Given the description of an element on the screen output the (x, y) to click on. 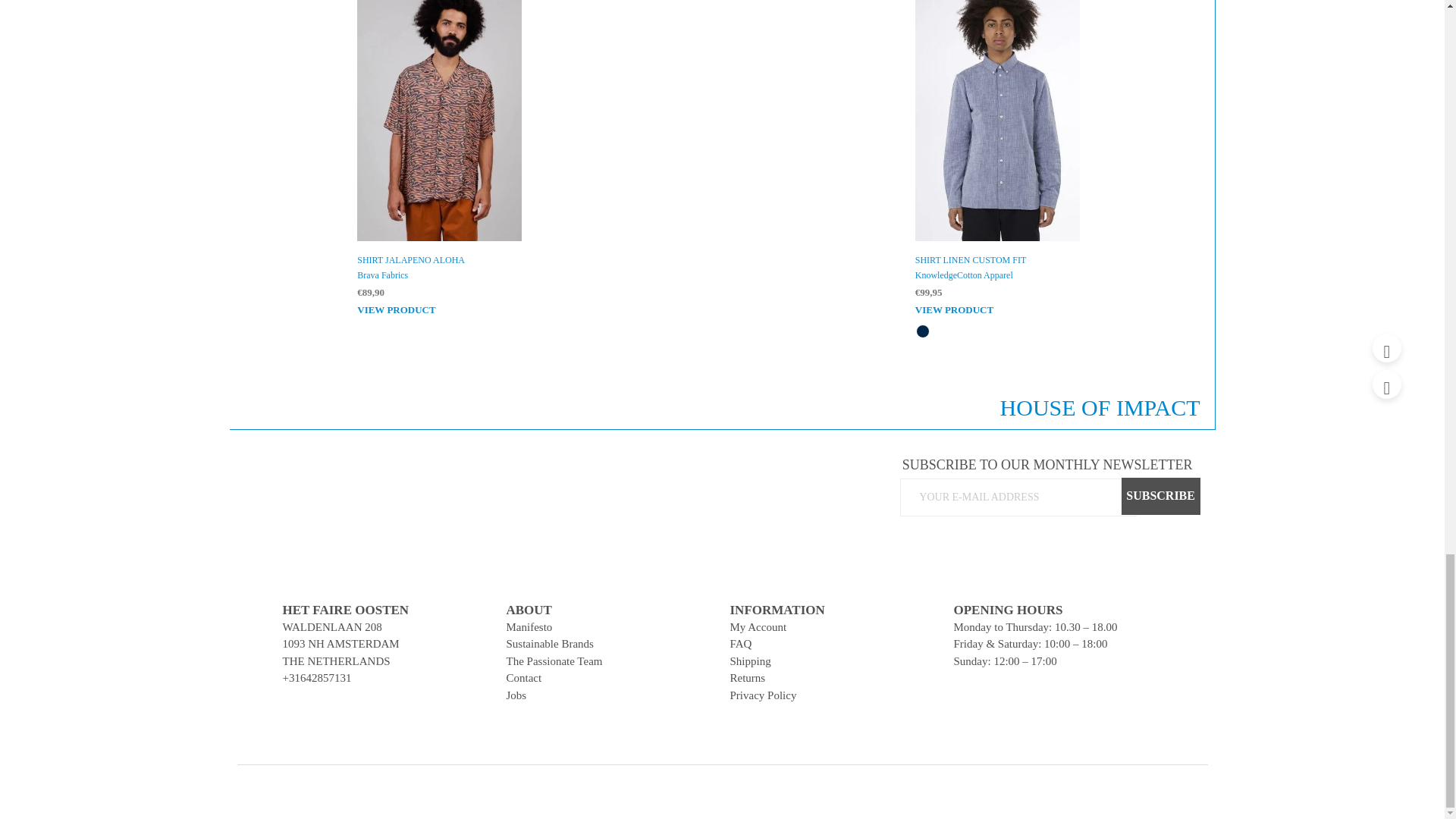
Subscribe (1160, 495)
